Given the description of an element on the screen output the (x, y) to click on. 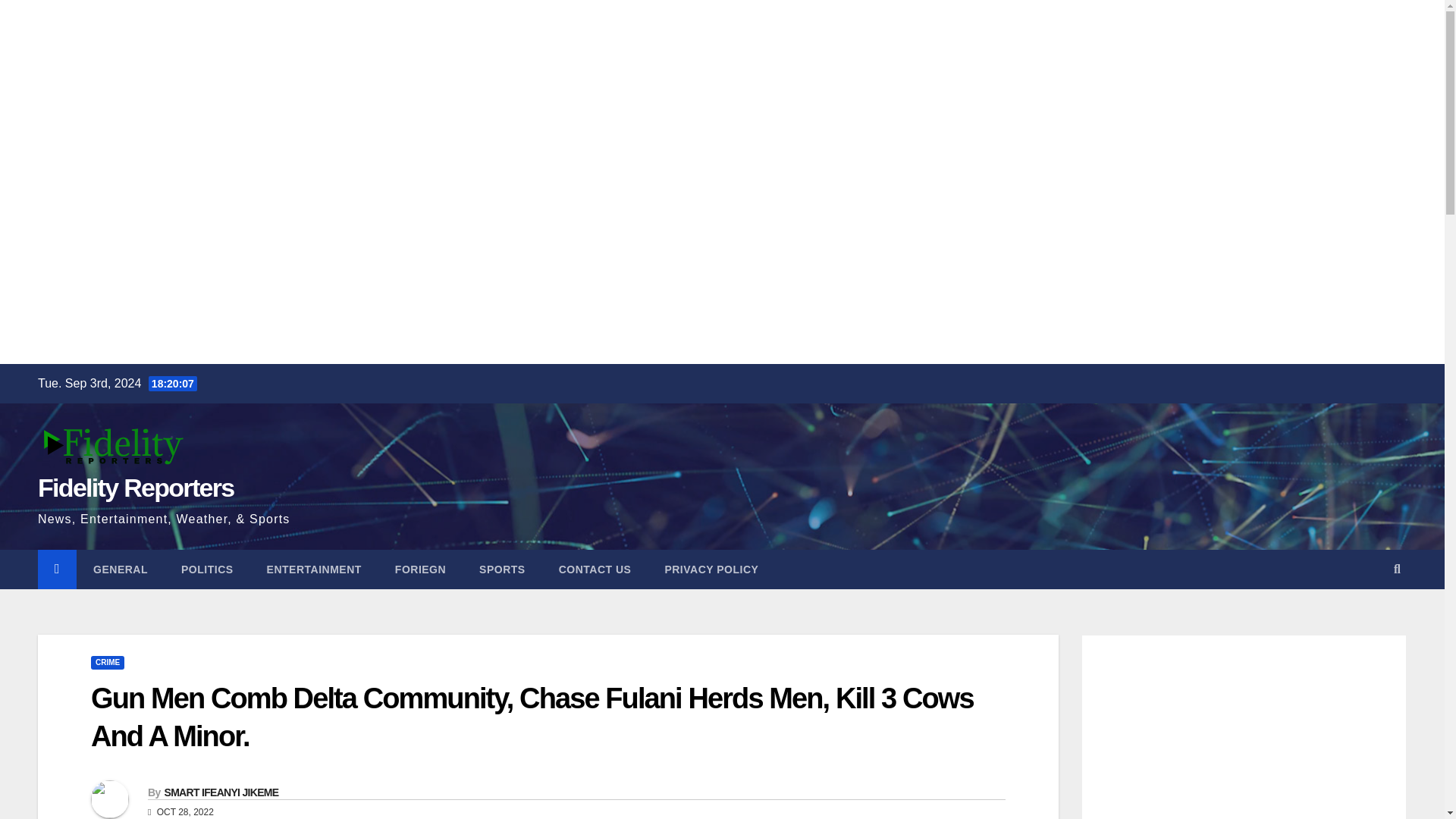
POLITICS (207, 568)
GENERAL (120, 568)
CRIME (106, 662)
SPORTS (502, 568)
Politics (207, 568)
FORIEGN (420, 568)
SMART IFEANYI JIKEME (220, 792)
PRIVACY POLICY (710, 568)
Foriegn (420, 568)
